Given the description of an element on the screen output the (x, y) to click on. 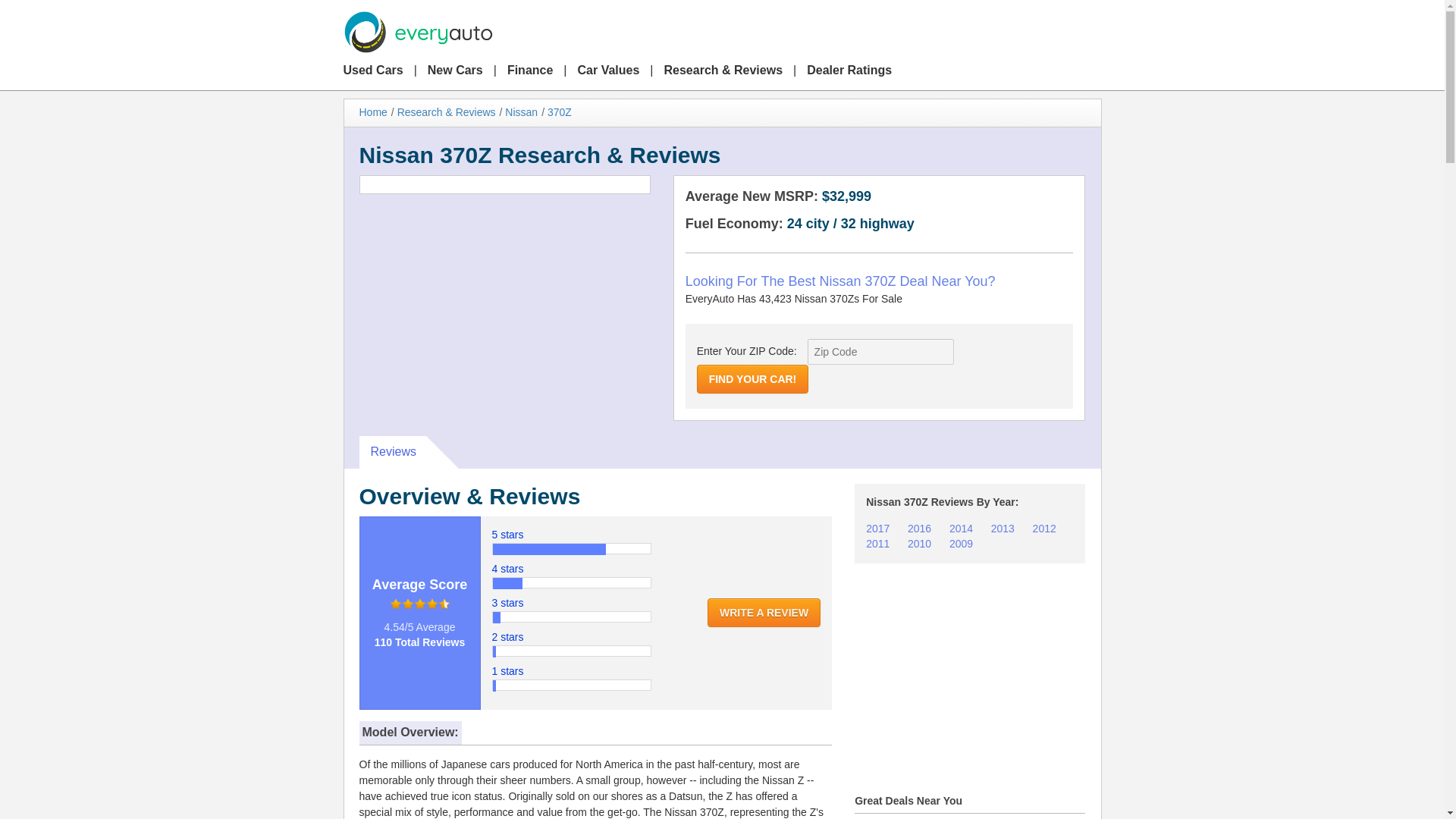
Car Values (609, 70)
2011 (877, 543)
Find Your Car! (753, 378)
2013 (1002, 528)
4 stars (507, 568)
2017 (877, 528)
Finance (529, 70)
Finance (529, 70)
New Cars (455, 70)
2009 (960, 543)
Home (373, 111)
Used Cars (377, 70)
WRITE A REVIEW (764, 612)
2014 (960, 528)
New Cars (455, 70)
